Given the description of an element on the screen output the (x, y) to click on. 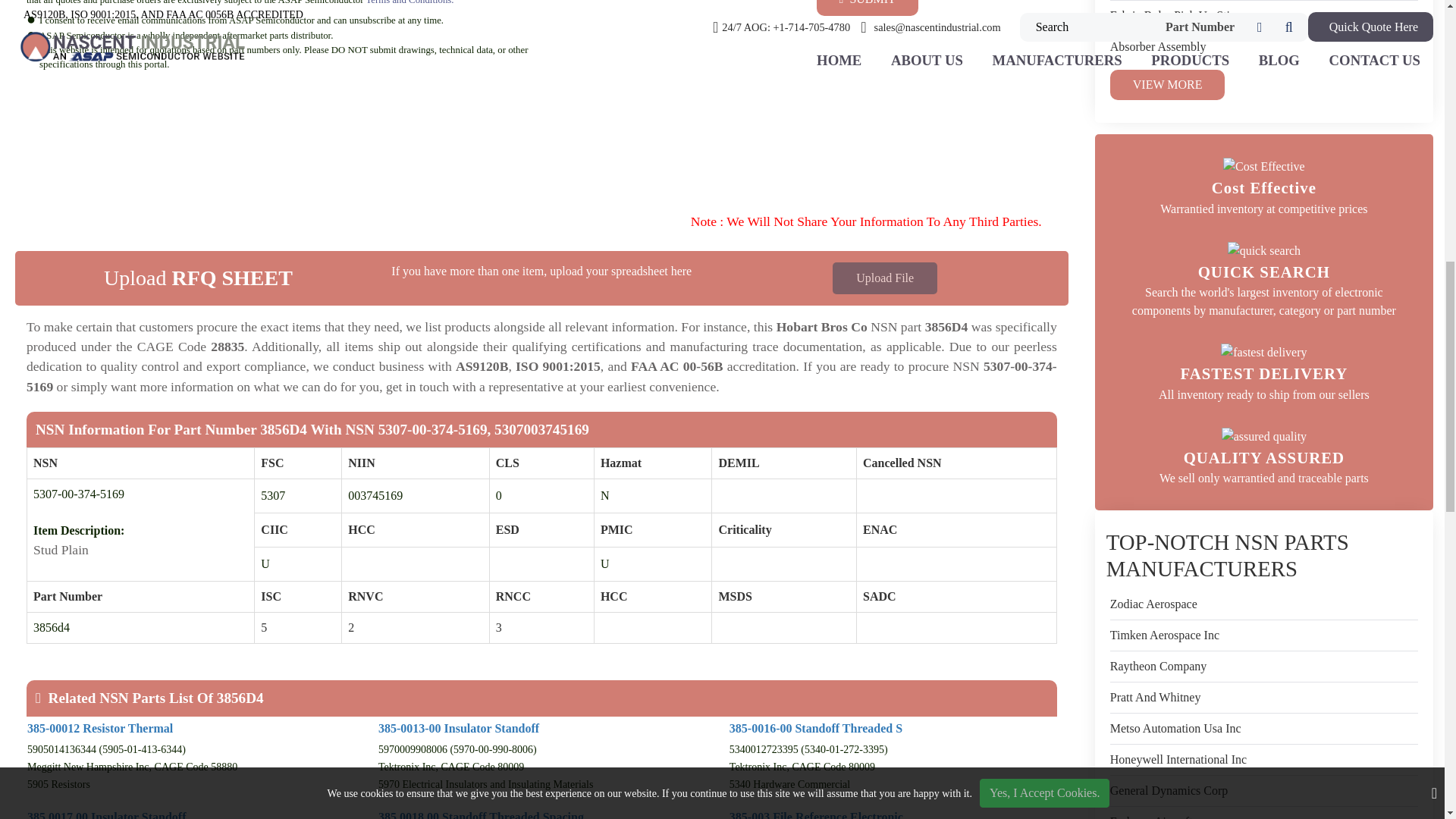
Terms and Conditions. (408, 2)
Zodiac Aerospace (1152, 604)
RFQ disclaimer (541, 142)
Upload File (884, 278)
  SUBMIT (867, 7)
